Given the description of an element on the screen output the (x, y) to click on. 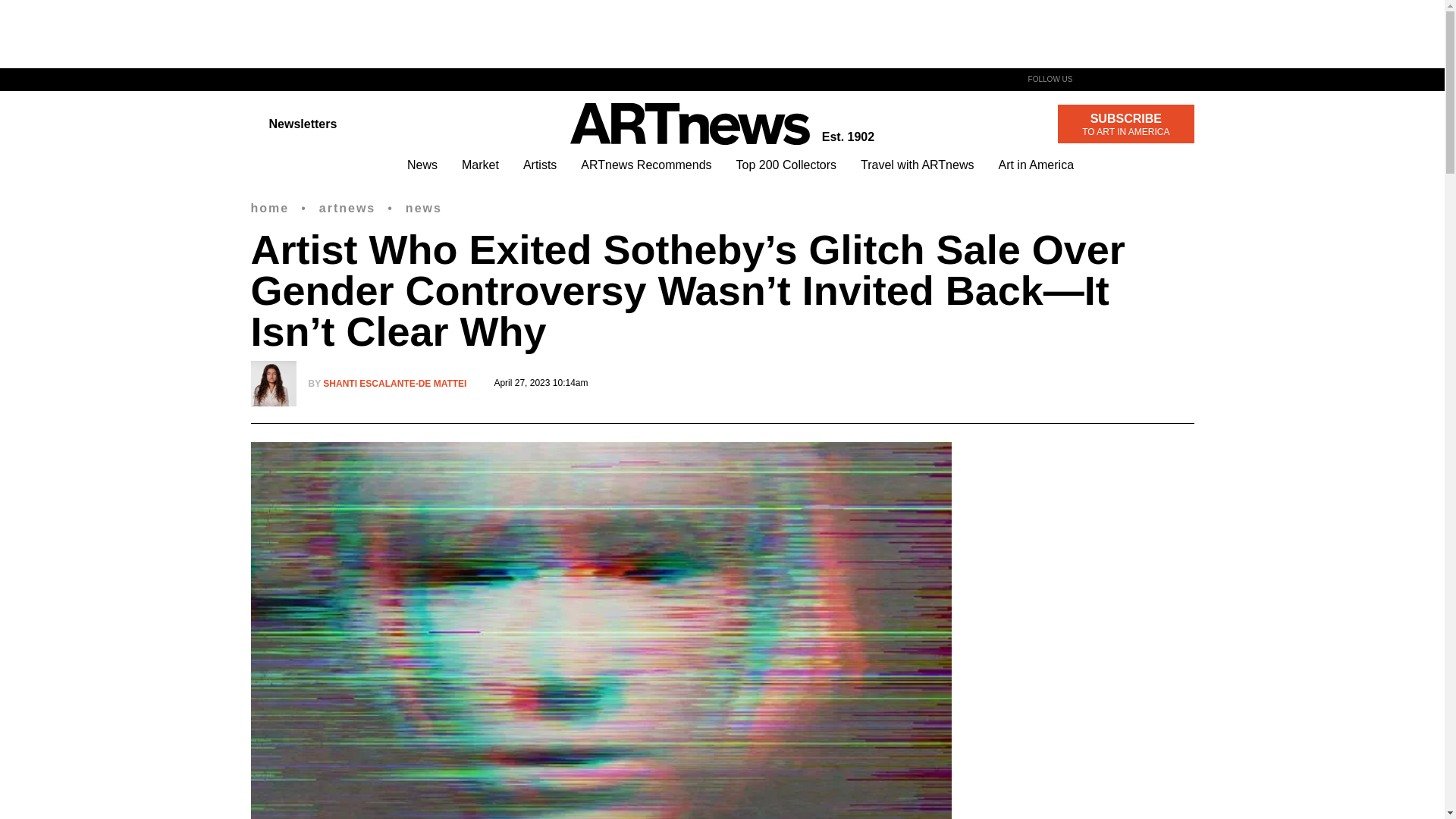
Market (480, 164)
Top 200 Collectors (786, 164)
Newsletters (293, 123)
News (422, 164)
artnews (346, 207)
Travel with ARTnews (917, 164)
ARTnews (689, 123)
Art in America (1035, 164)
Plus Icon (394, 383)
Plus Icon (269, 207)
